Given the description of an element on the screen output the (x, y) to click on. 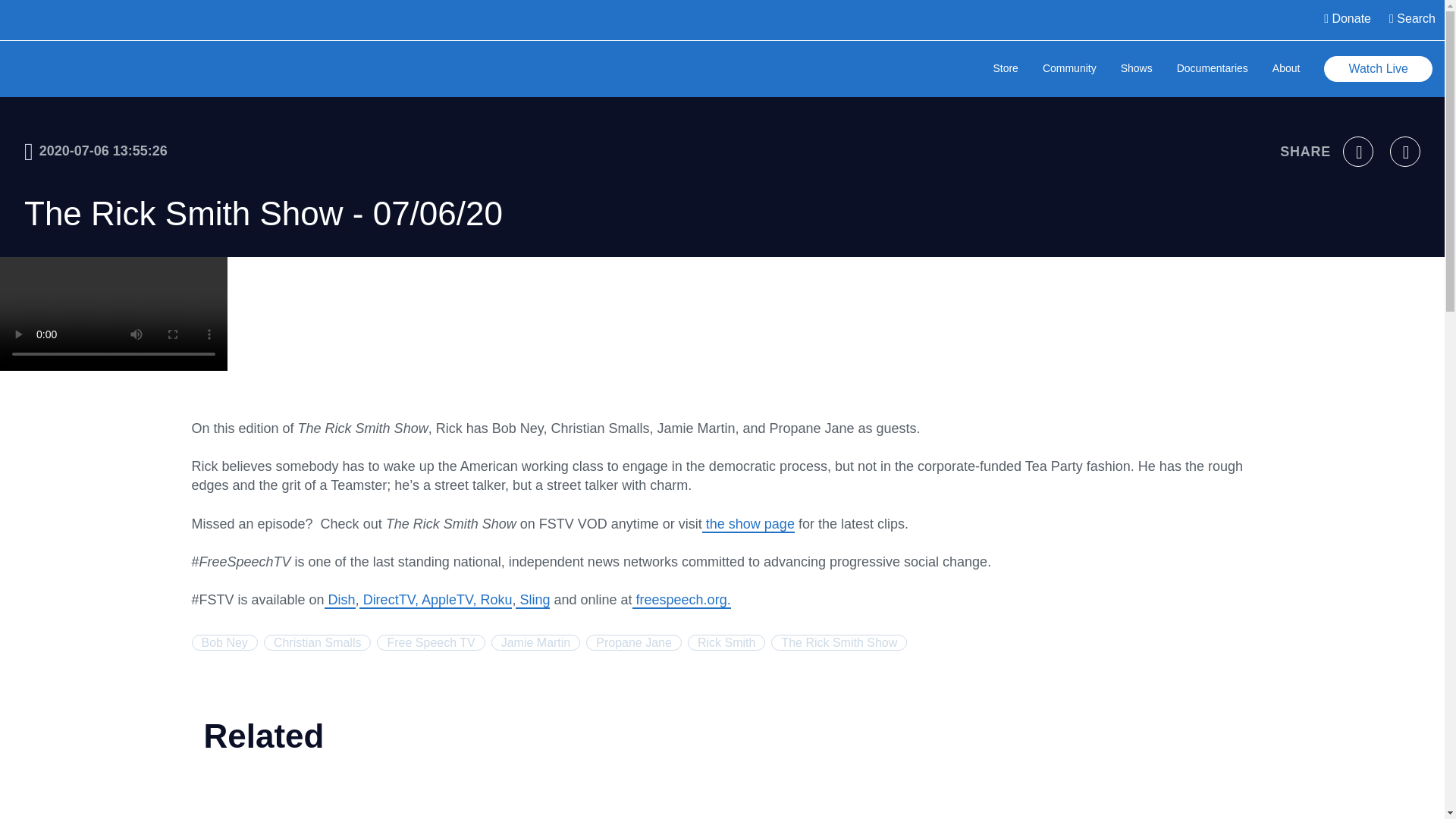
Donate (1347, 20)
Watch Live (1377, 68)
Community (1069, 69)
Documentaries (1211, 69)
Search (1412, 20)
